Given the description of an element on the screen output the (x, y) to click on. 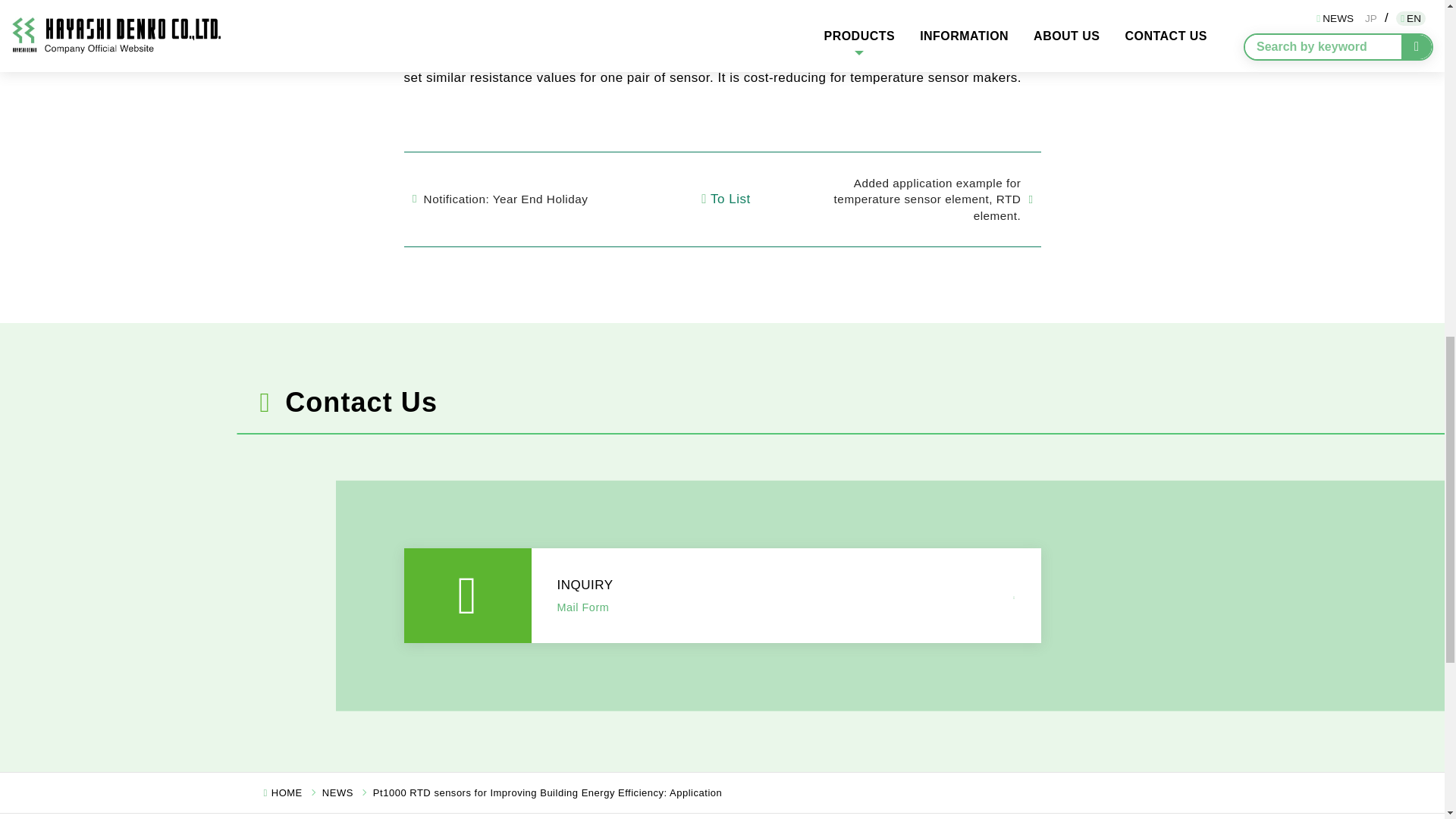
To List (721, 199)
HOME (286, 792)
Notification: Year End Holiday (524, 198)
NEWS (337, 792)
